Given the description of an element on the screen output the (x, y) to click on. 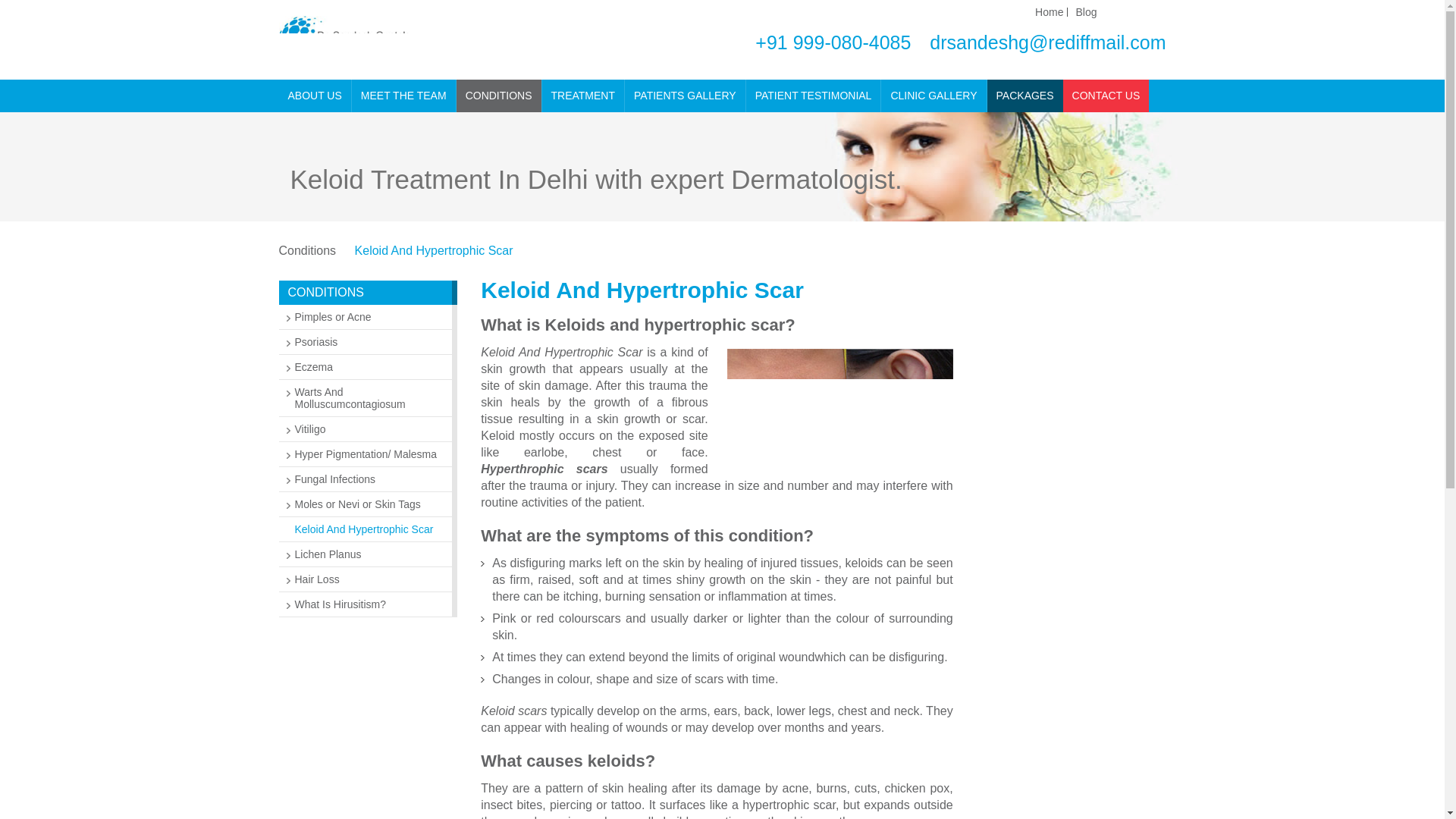
Blog (1085, 11)
Google Plus (1159, 11)
Home (1048, 11)
Skin N Laser Center (420, 60)
Twitter (1136, 11)
Skin N Laser Center, Dermatologist in Delhi (420, 39)
Google Plus (1159, 11)
Twitter (1136, 11)
Home (1048, 11)
Blog (1085, 11)
